Given the description of an element on the screen output the (x, y) to click on. 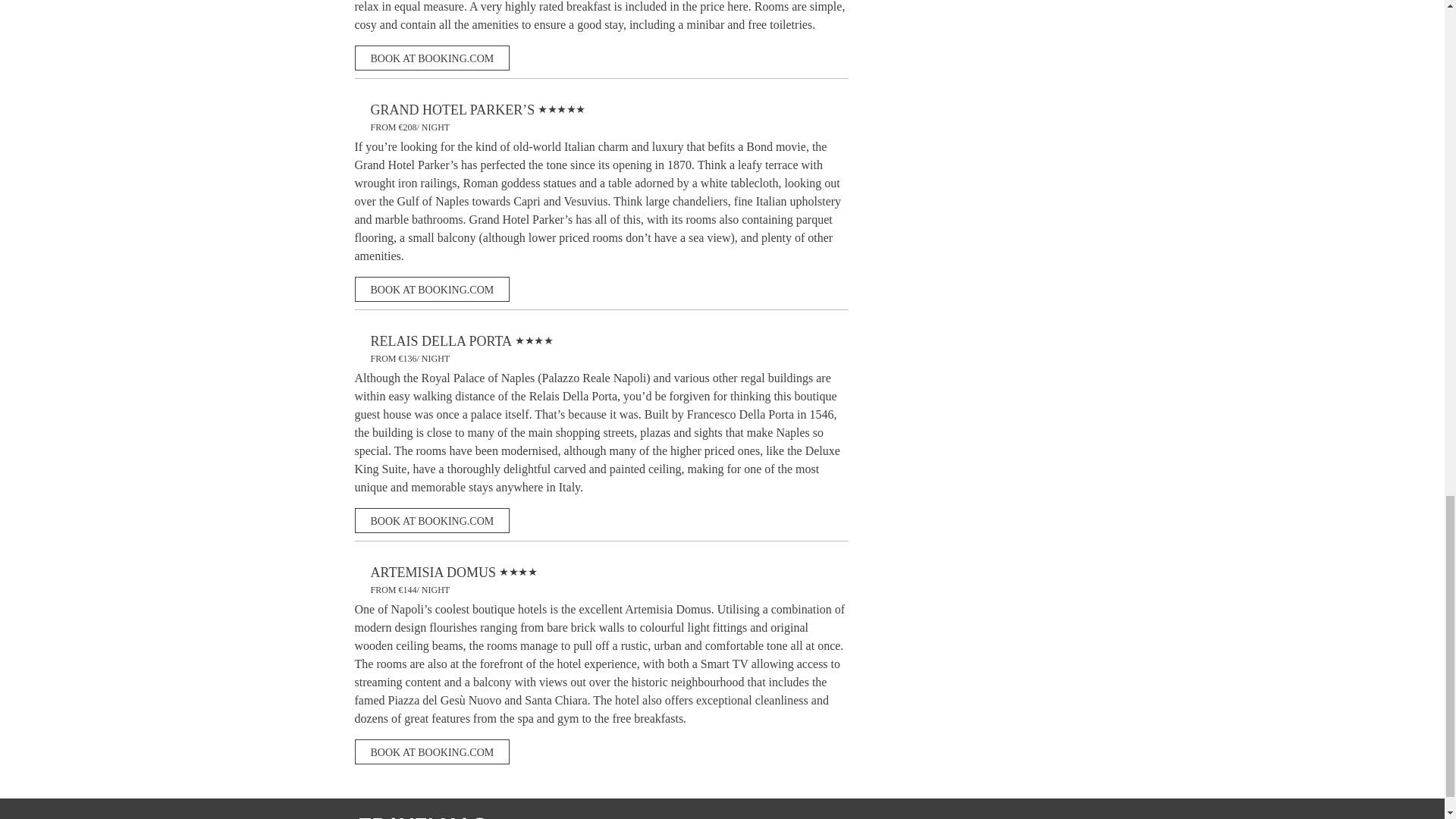
BOOK AT BOOKING.COM (433, 520)
BOOK AT BOOKING.COM (433, 57)
BOOK AT BOOKING.COM (433, 751)
BOOK AT BOOKING.COM (433, 289)
